Given the description of an element on the screen output the (x, y) to click on. 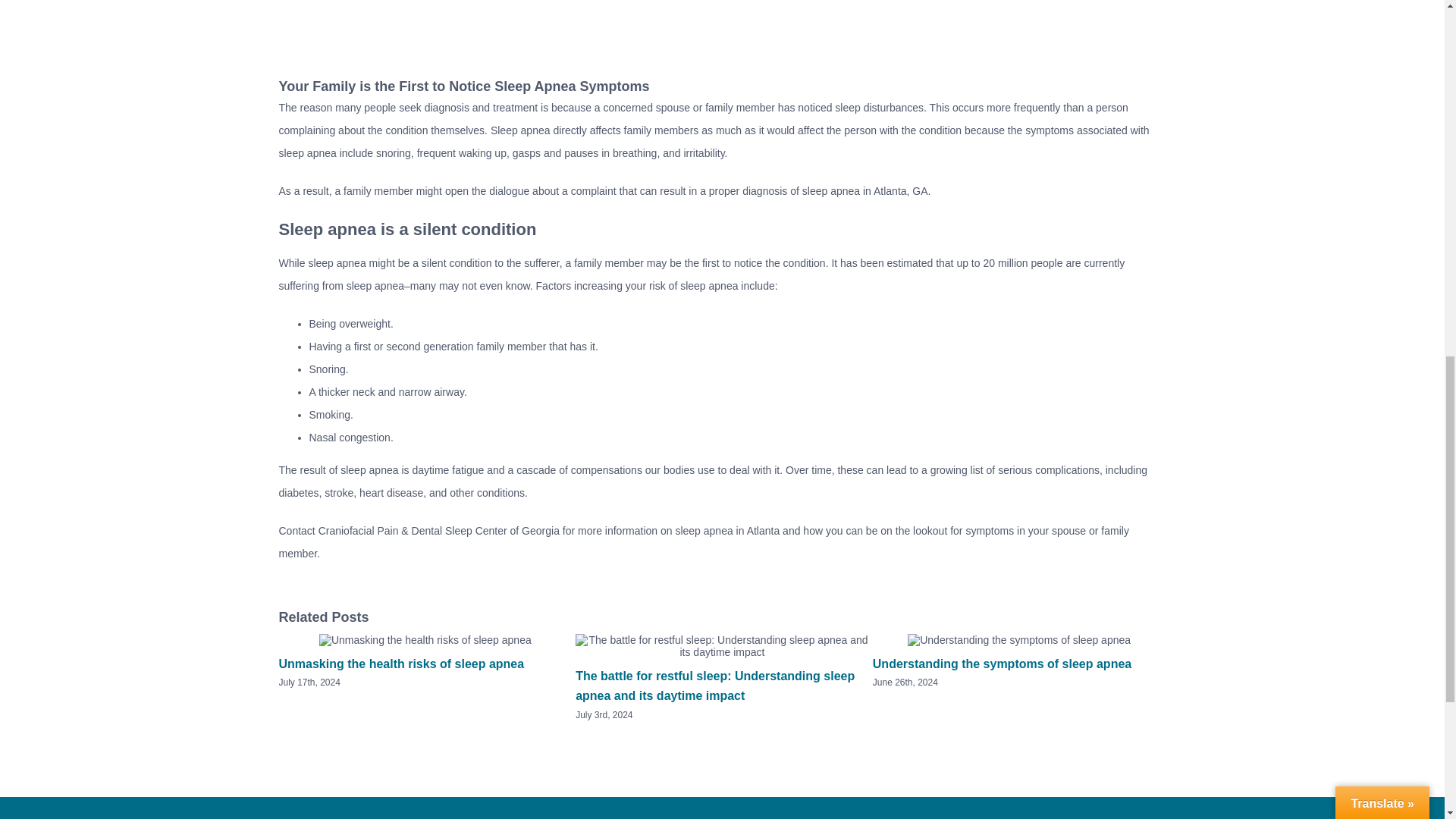
Unmasking the health risks of sleep apnea (401, 663)
Understanding the symptoms of sleep apnea (1001, 663)
